Given the description of an element on the screen output the (x, y) to click on. 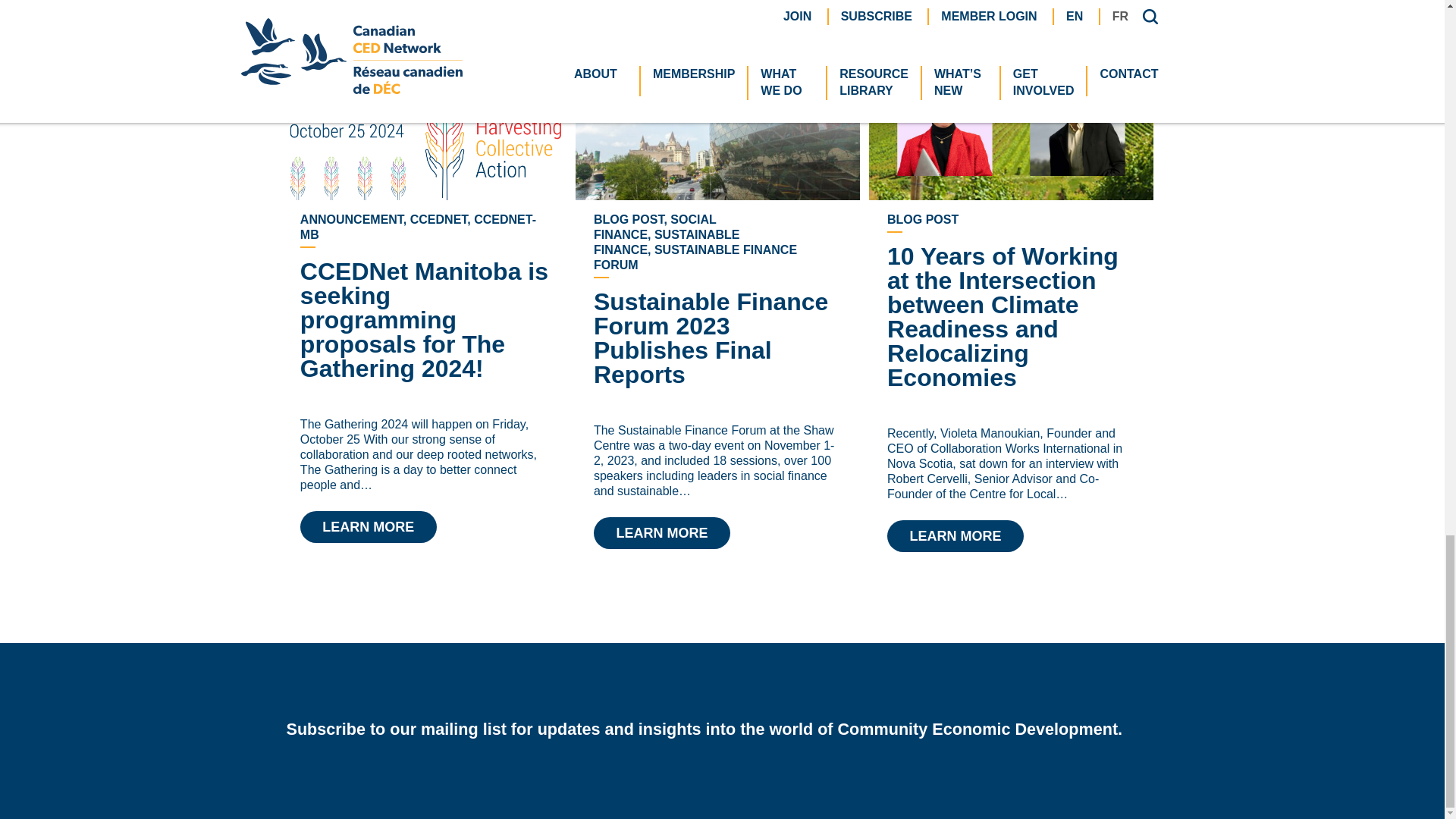
LEARN MORE (367, 526)
CCEDNET (424, 114)
Sustainable Finance Forum 2023 Publishes Final Reports (717, 114)
Sustainable Finance Forum 2023 Publishes Final Reports (662, 531)
